Given the description of an element on the screen output the (x, y) to click on. 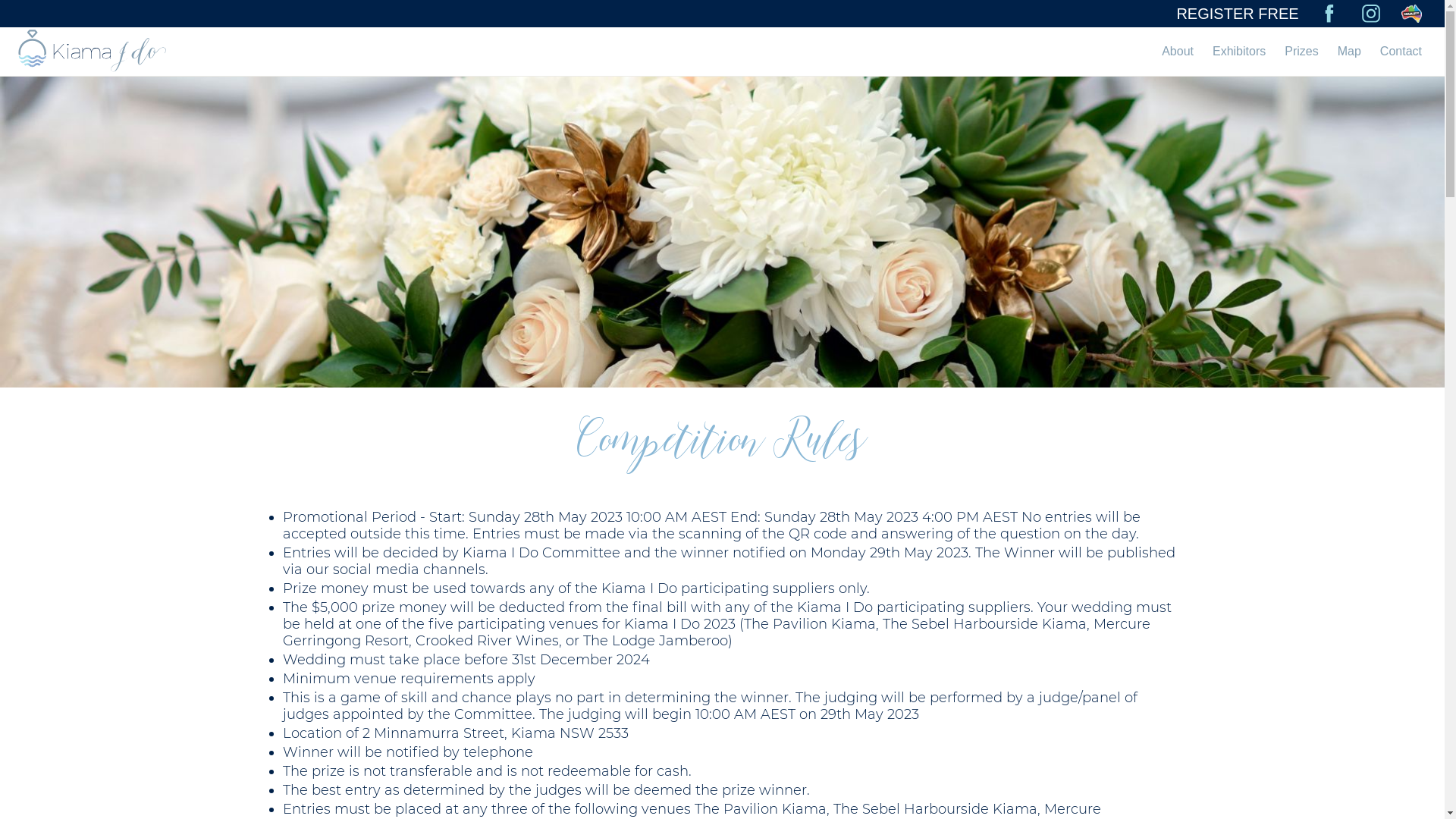
Contact Element type: text (1400, 50)
Home Element type: hover (92, 50)
About Element type: text (1177, 50)
MARRIAGE EQUALITY Element type: text (1411, 13)
INSTAGRAM Element type: text (1370, 13)
Skip to main content Element type: text (721, 76)
Exhibitors Element type: text (1238, 50)
Prizes Element type: text (1301, 50)
Map Element type: text (1349, 50)
FACEBOOK Element type: text (1328, 13)
REGISTER FREE Element type: text (1237, 13)
